Given the description of an element on the screen output the (x, y) to click on. 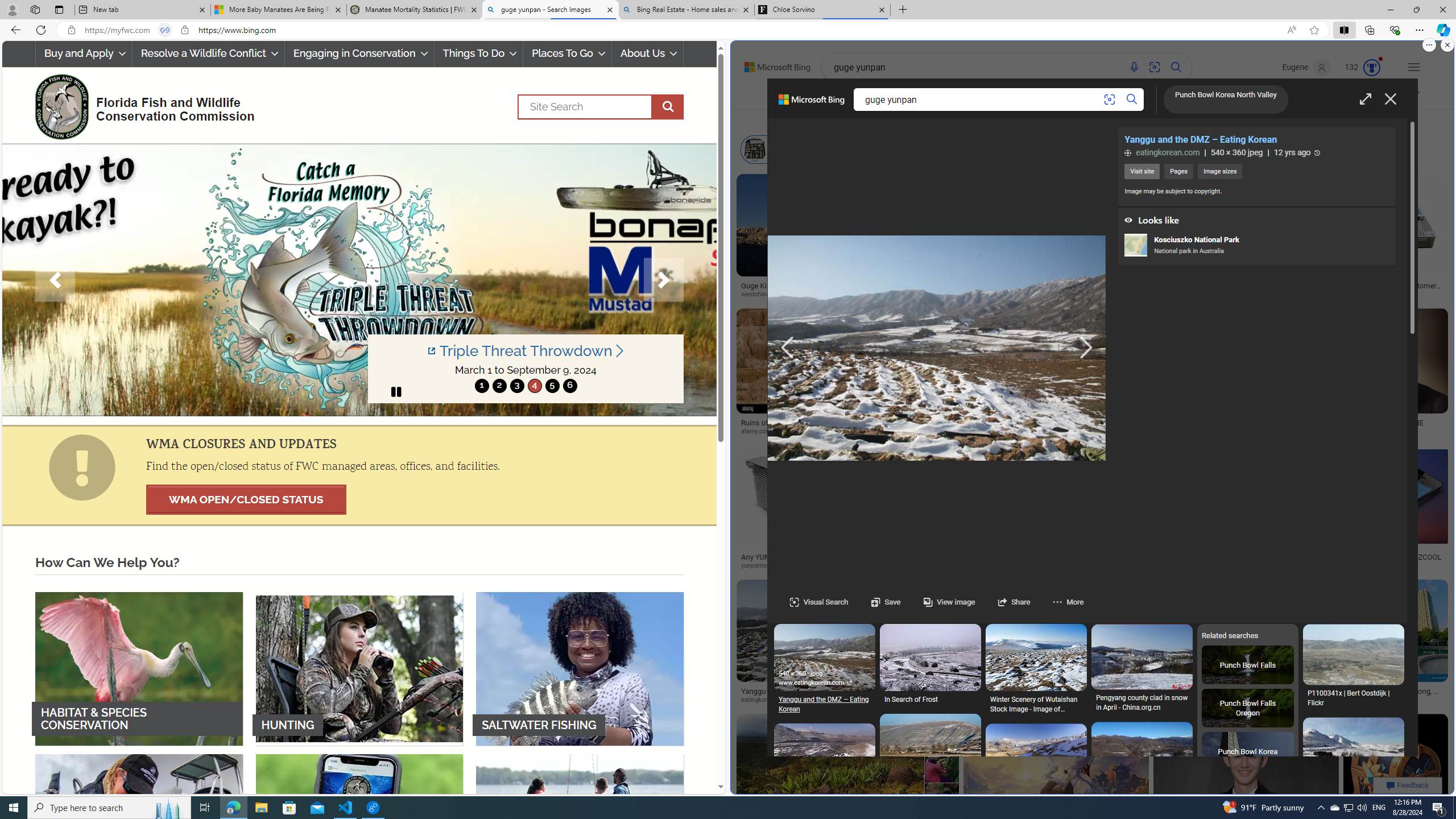
istockphoto.com (1036, 293)
Color (902, 121)
Things To Do (478, 53)
InspirationCollections (1030, 98)
Punch Bowl Falls Oregon (1247, 708)
Resolve a Wildlife Conflict (207, 53)
Visual Search (818, 601)
Search button (1132, 99)
Class: item col (1101, 149)
